Given the description of an element on the screen output the (x, y) to click on. 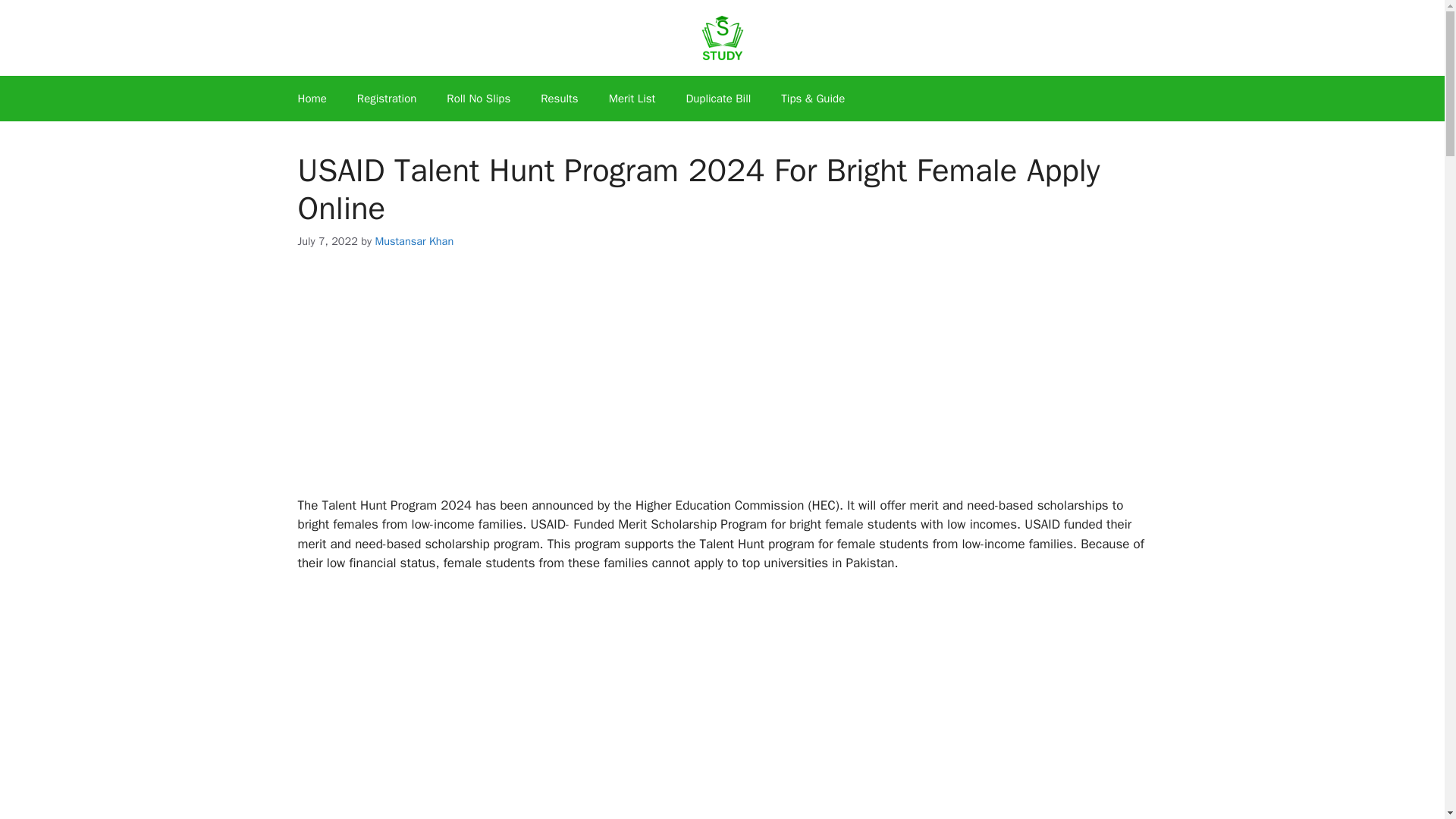
Results (558, 98)
Duplicate Bill (717, 98)
View all posts by Mustansar Khan (413, 241)
Home (311, 98)
Merit List (632, 98)
Registration (386, 98)
Mustansar Khan (413, 241)
Roll No Slips (477, 98)
